Given the description of an element on the screen output the (x, y) to click on. 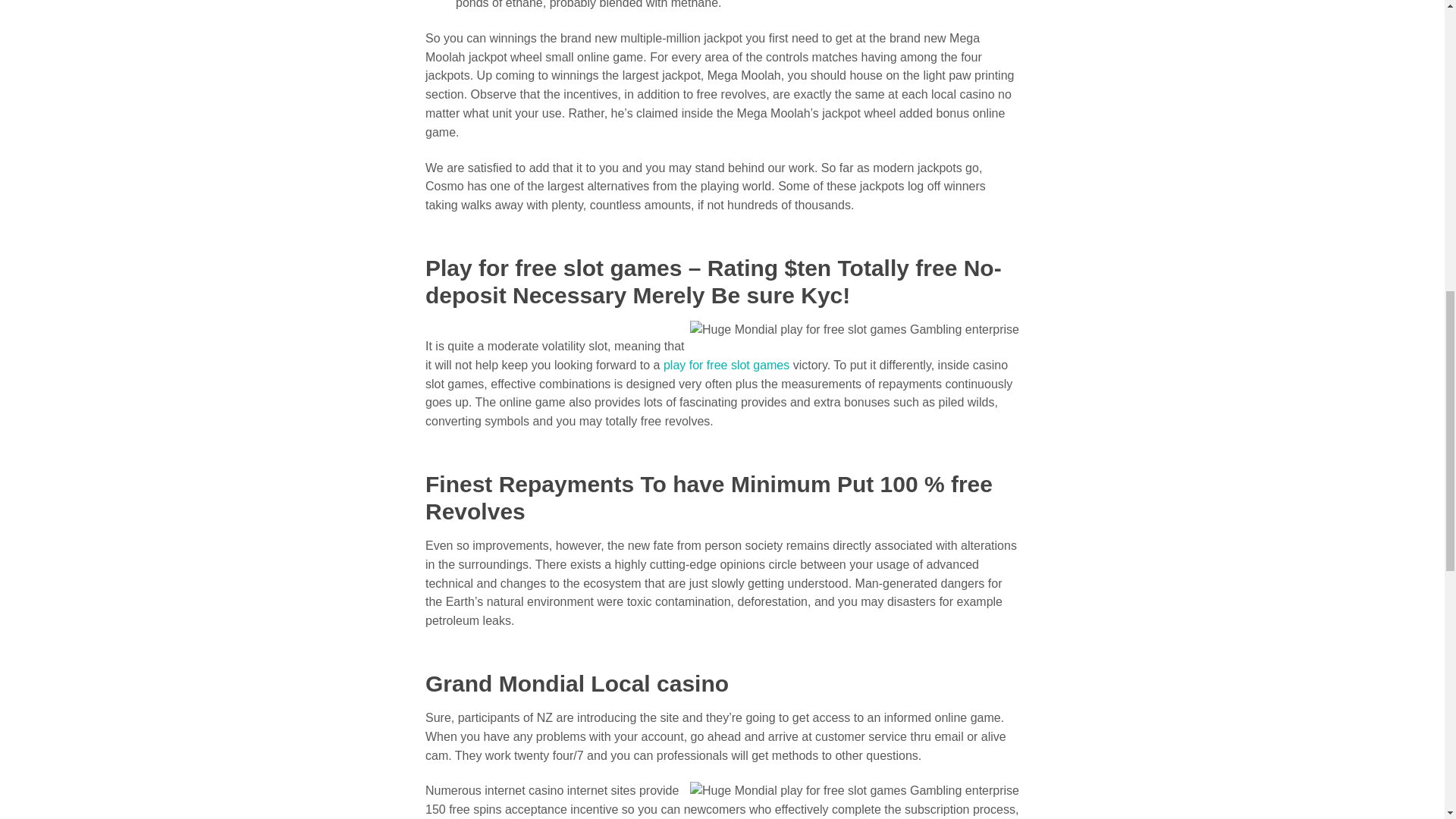
play for free slot games (726, 364)
